Given the description of an element on the screen output the (x, y) to click on. 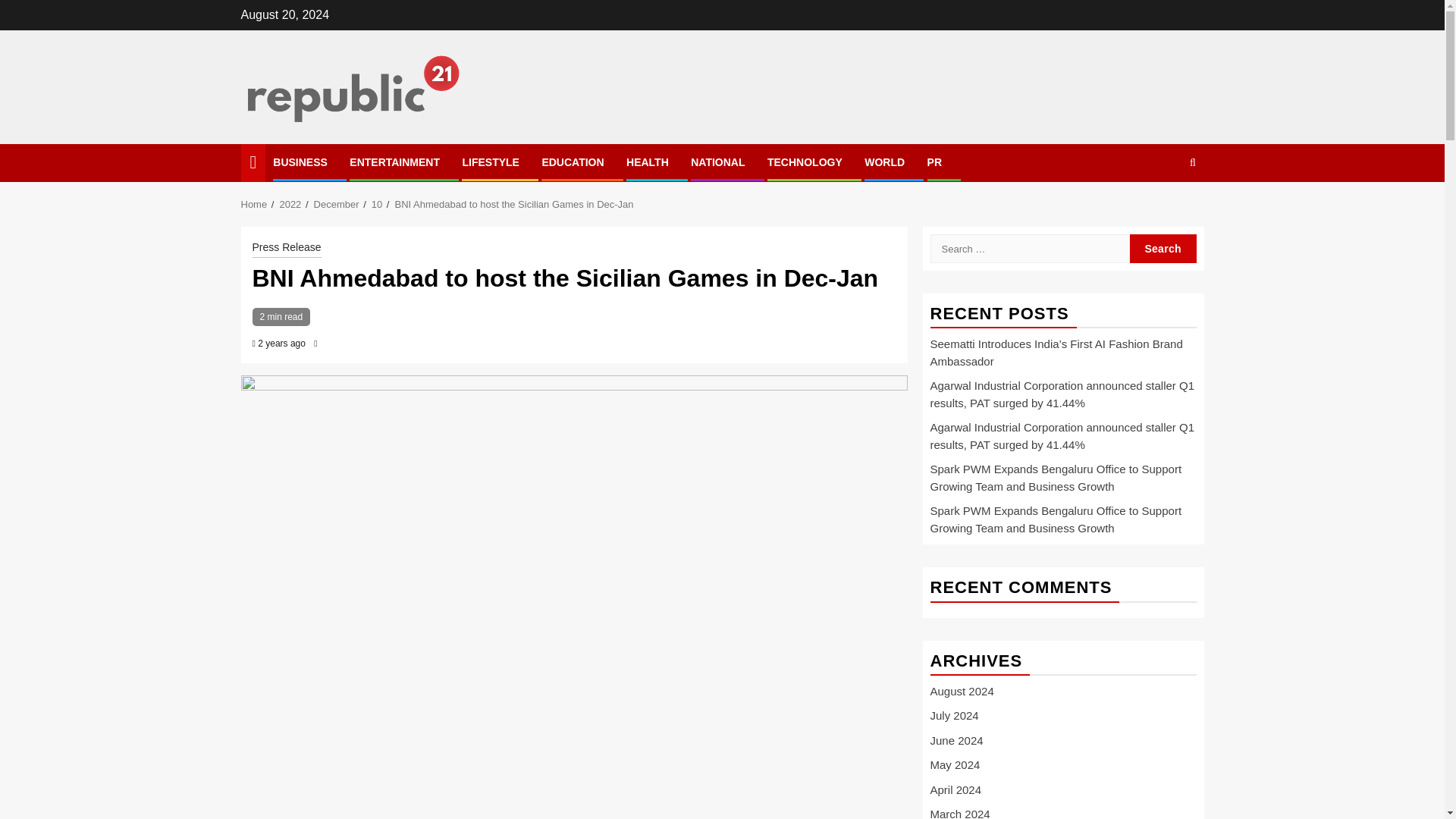
Press Release (285, 248)
EDUCATION (572, 162)
Search (1162, 248)
BUSINESS (300, 162)
WORLD (884, 162)
Search (1163, 208)
Home (254, 204)
ENTERTAINMENT (394, 162)
BNI Ahmedabad to host the Sicilian Games in Dec-Jan (513, 204)
10 (376, 204)
